Given the description of an element on the screen output the (x, y) to click on. 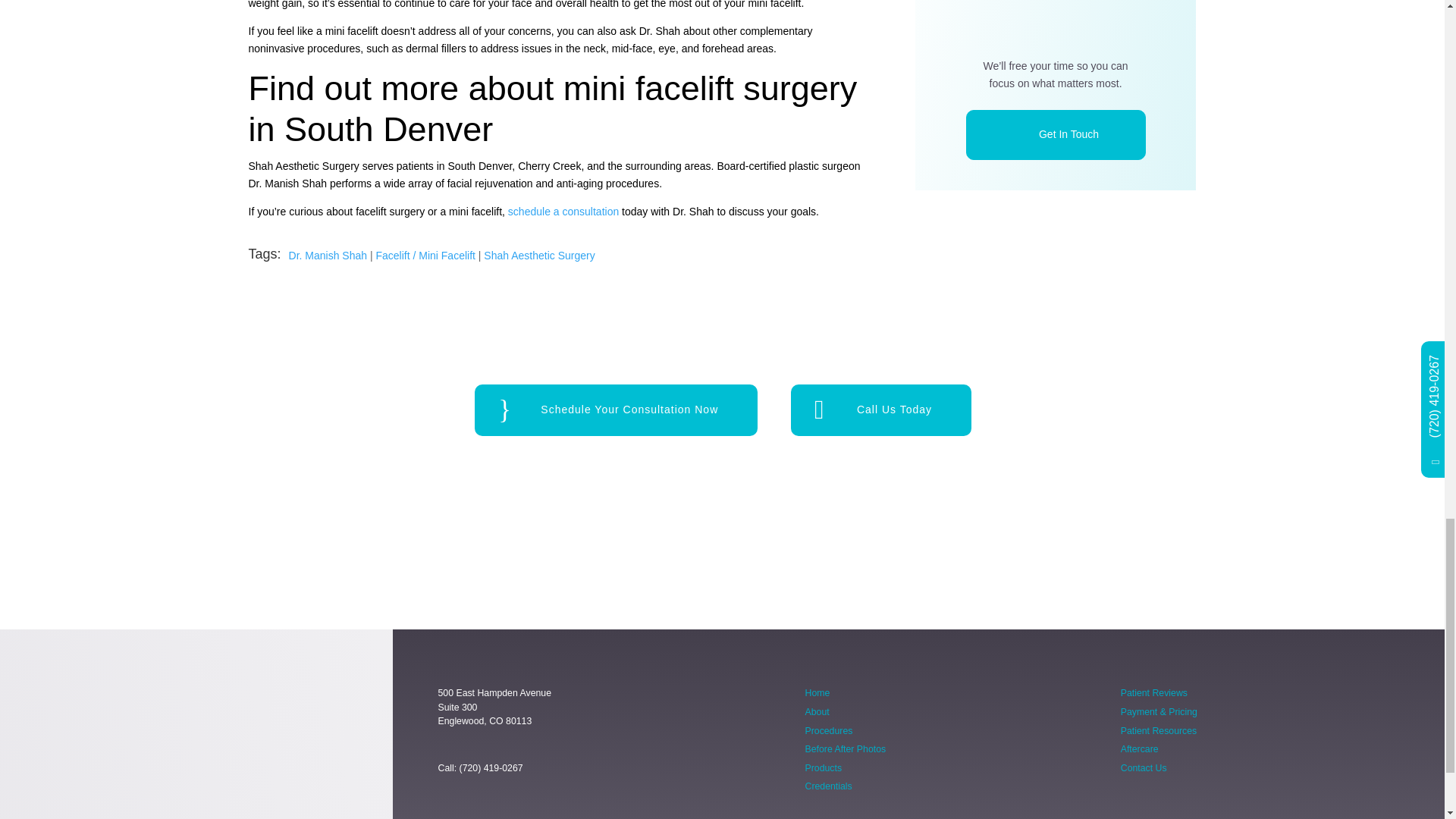
forbes logo (541, 542)
fox news logo (722, 542)
vice logo (901, 542)
cosmetictown logo (1079, 543)
rooster logo (364, 543)
